Given the description of an element on the screen output the (x, y) to click on. 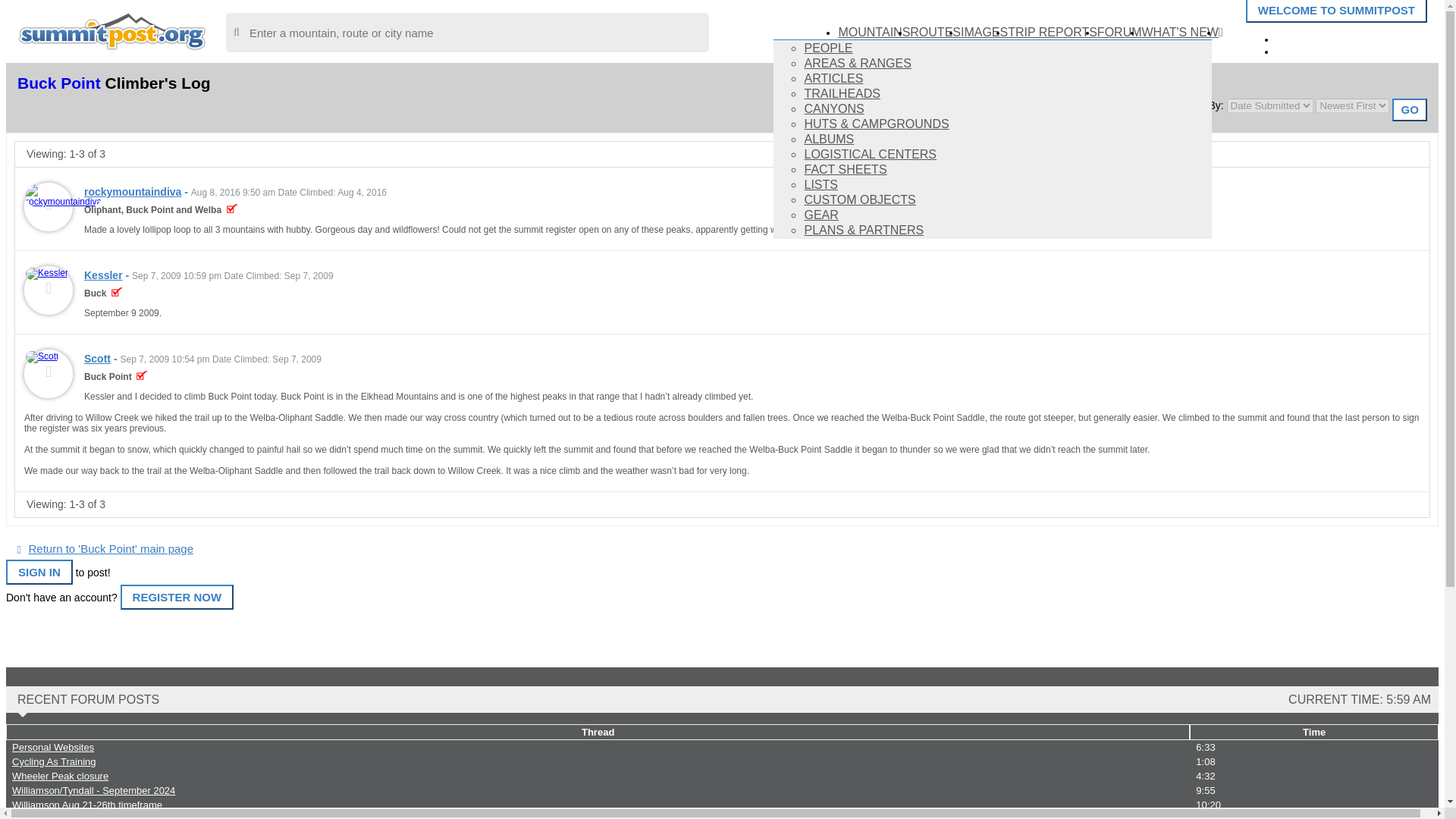
SIGN IN (1310, 38)
Kessler (103, 275)
REGISTER NOW (177, 596)
IMAGES (983, 31)
FORUM (1119, 31)
TRAILHEADS (841, 92)
LOGISTICAL CENTERS (869, 154)
GEAR (820, 214)
REGISTER (1318, 50)
LISTS (820, 184)
